Given the description of an element on the screen output the (x, y) to click on. 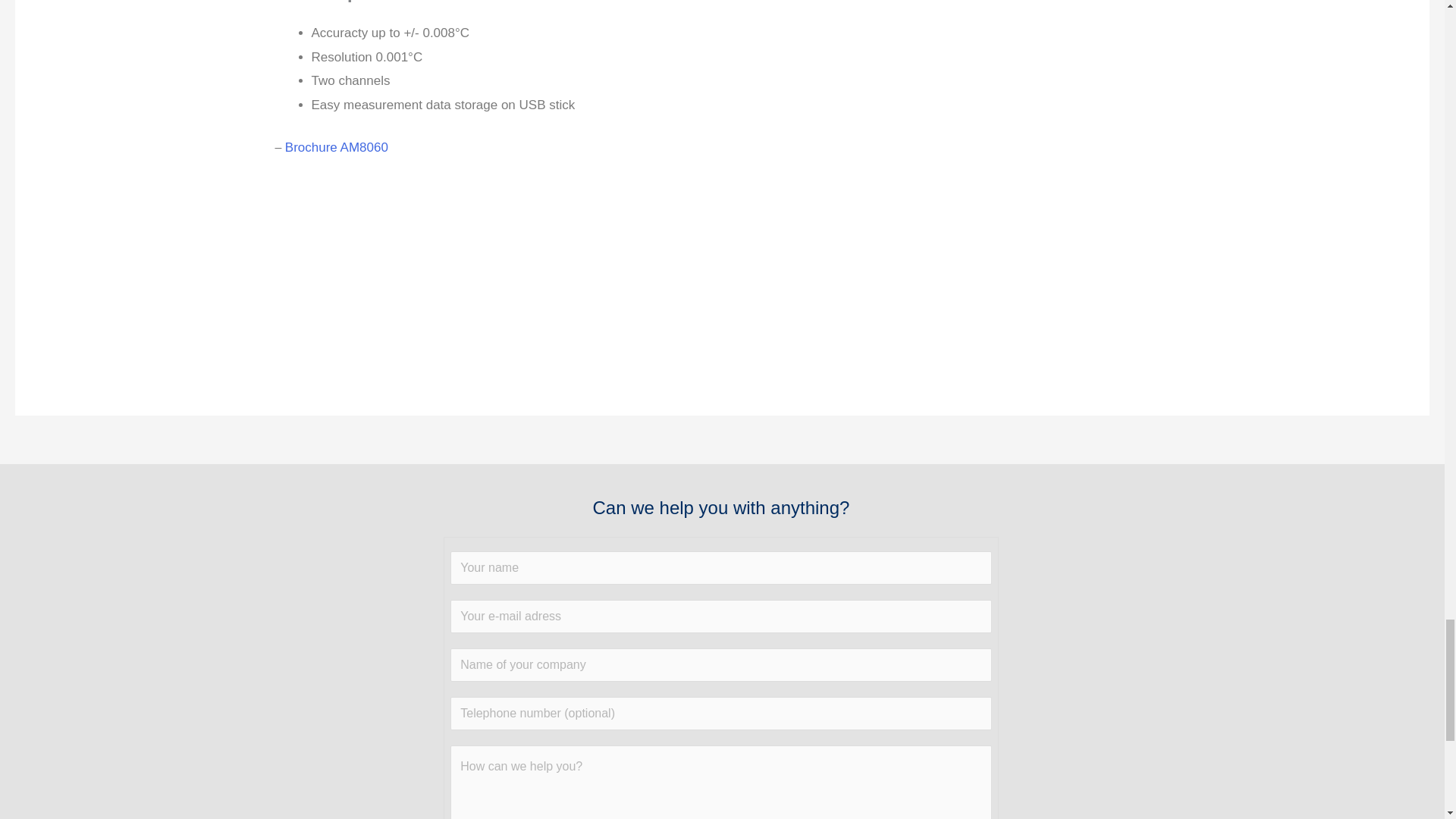
Brochure AM8060 (336, 147)
